Given the description of an element on the screen output the (x, y) to click on. 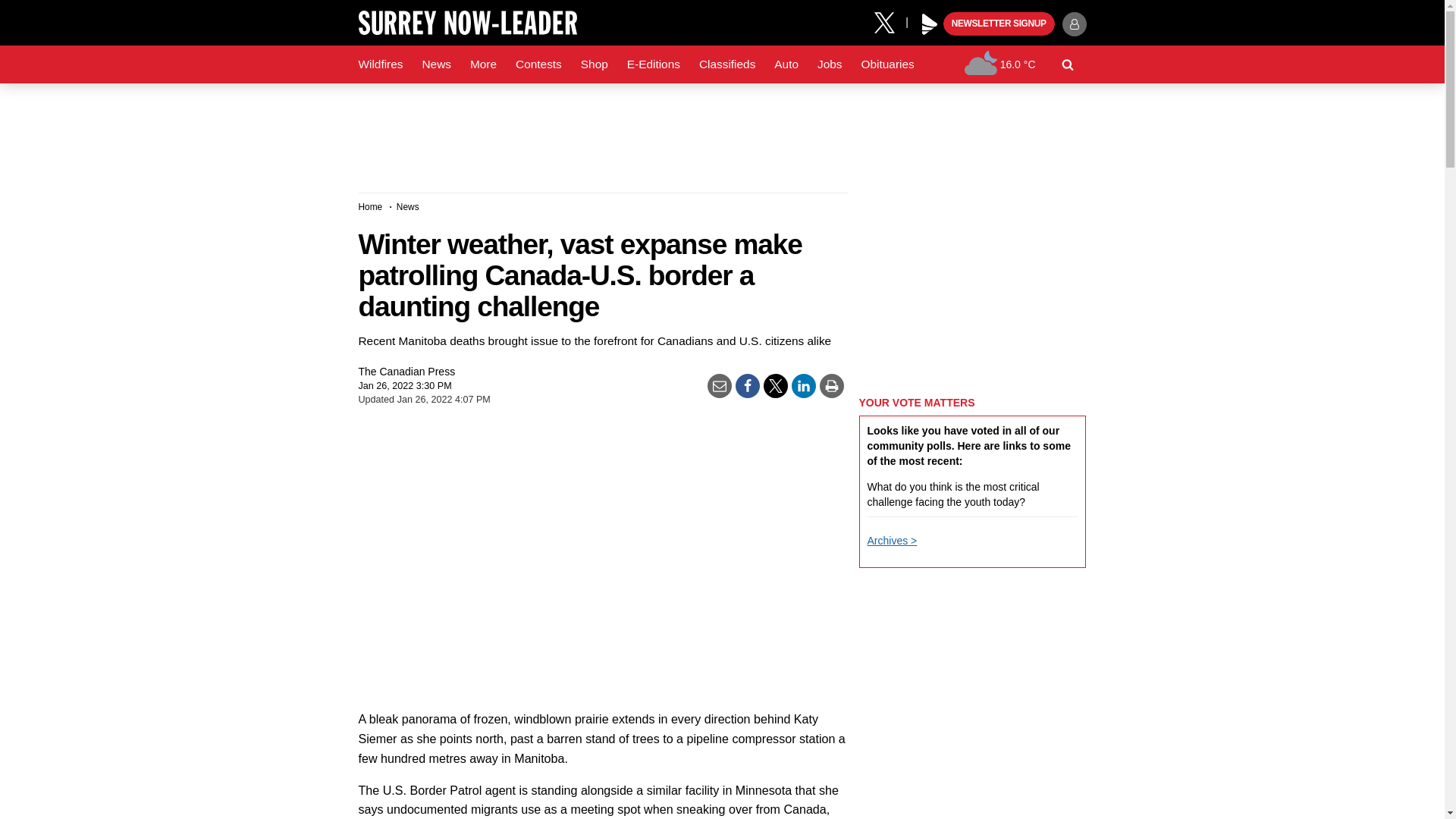
Wildfires (380, 64)
Black Press Media (929, 24)
News (435, 64)
X (889, 21)
Play (929, 24)
NEWSLETTER SIGNUP (998, 24)
